Given the description of an element on the screen output the (x, y) to click on. 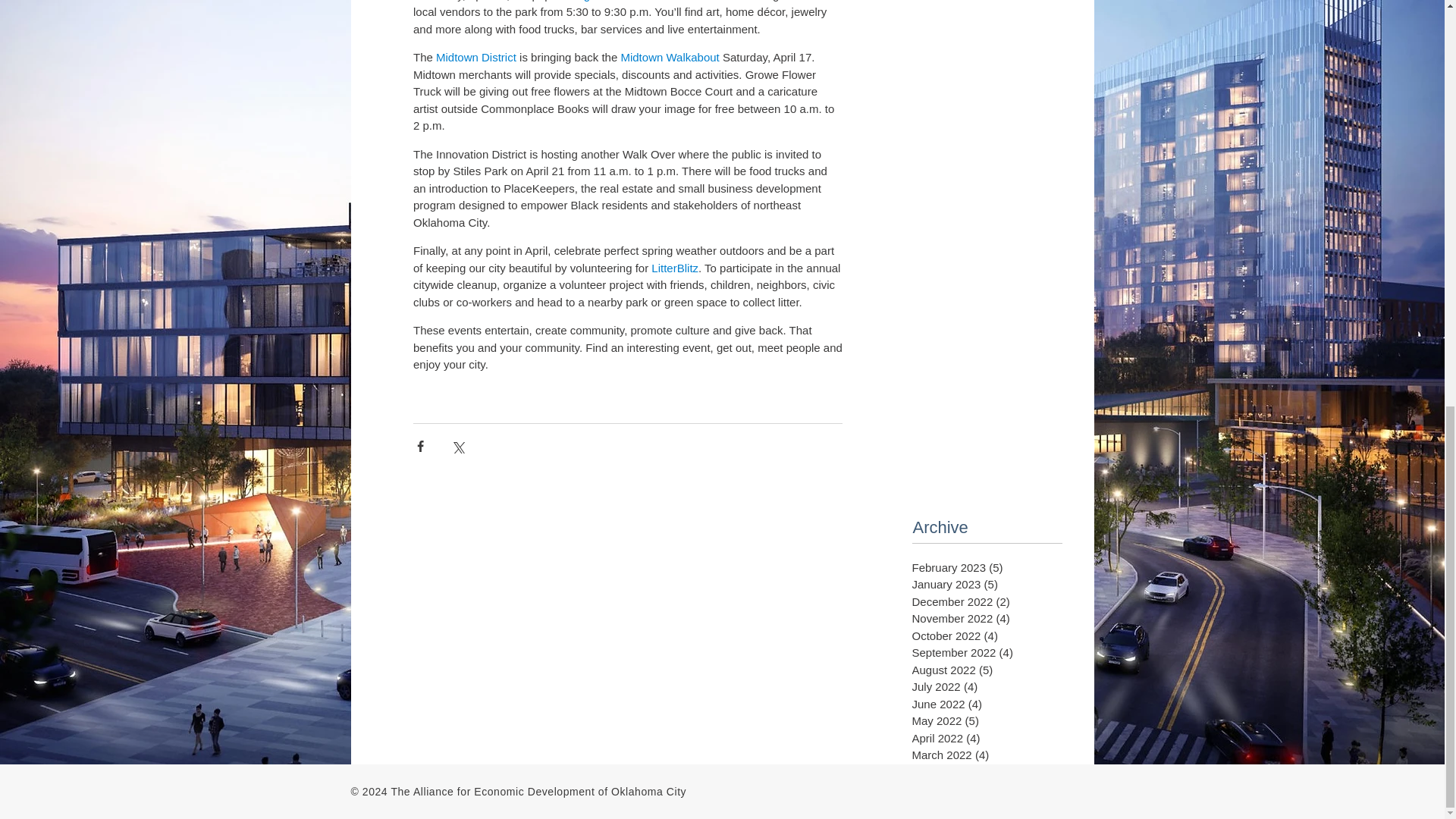
Midtown District (475, 56)
Midtown Walkabout (669, 56)
LitterBlitz (674, 267)
